Given the description of an element on the screen output the (x, y) to click on. 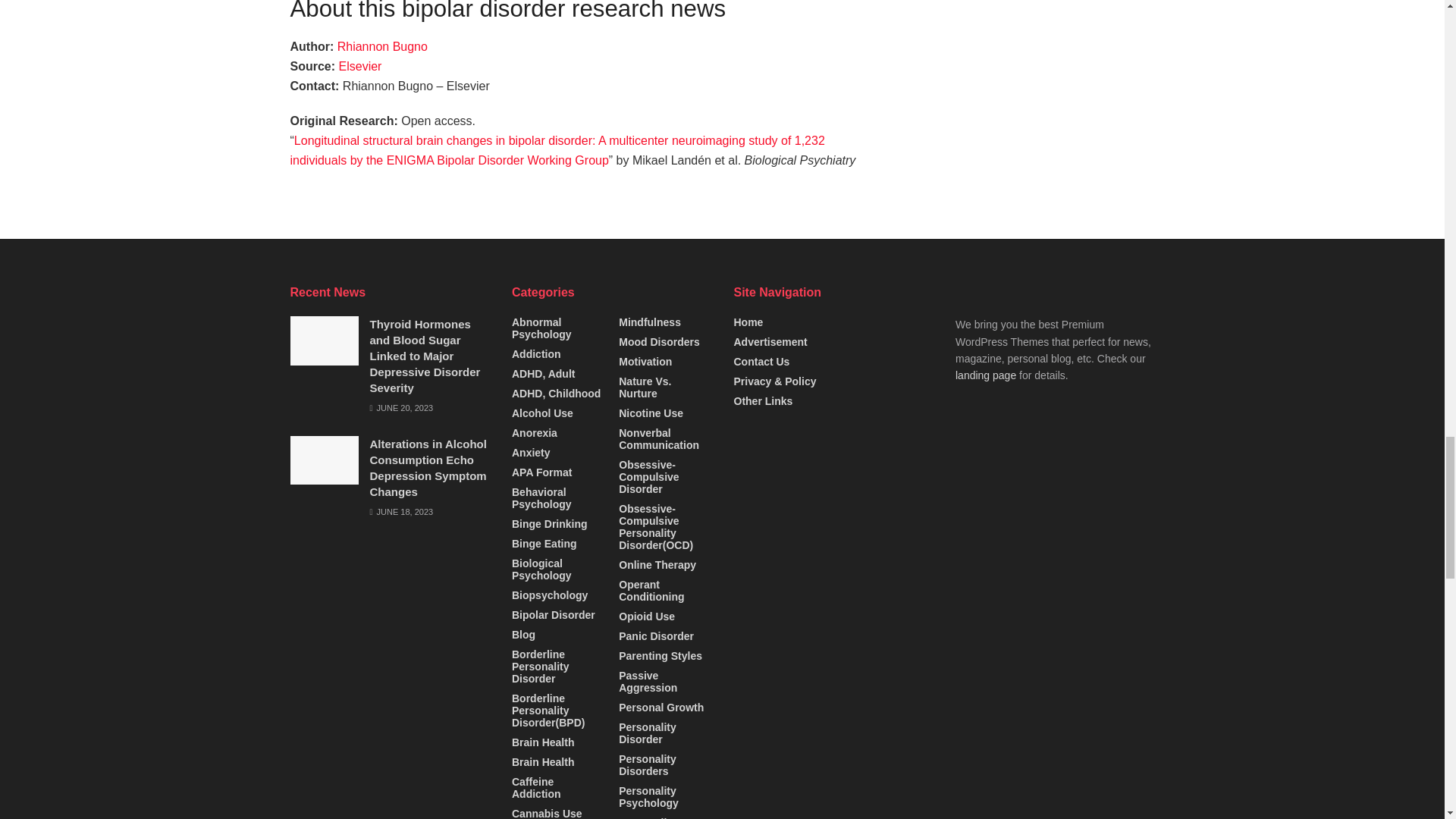
Addiction (536, 354)
Binge Eating (544, 543)
Biological Psychology (558, 569)
Alcohol Use (542, 413)
Elsevier (360, 65)
ADHD, Adult (543, 373)
Blog (523, 634)
Brain Health (542, 742)
Anxiety (531, 452)
Anorexia (534, 432)
